Given the description of an element on the screen output the (x, y) to click on. 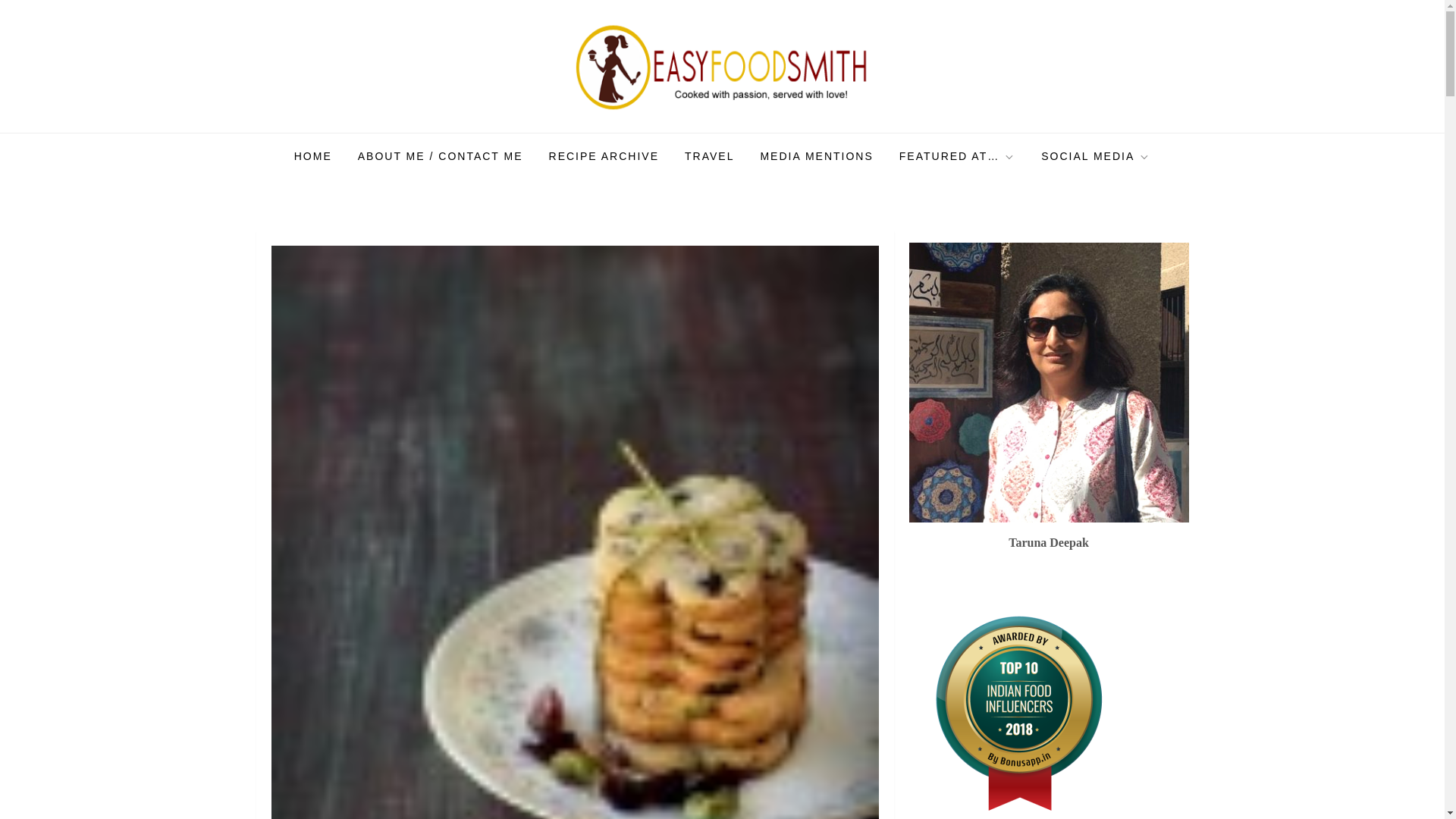
HOME (312, 156)
MEDIA MENTIONS (815, 156)
SOCIAL MEDIA (1095, 156)
RECIPE ARCHIVE (603, 156)
Easy Food Smith (360, 132)
TRAVEL (708, 156)
